Given the description of an element on the screen output the (x, y) to click on. 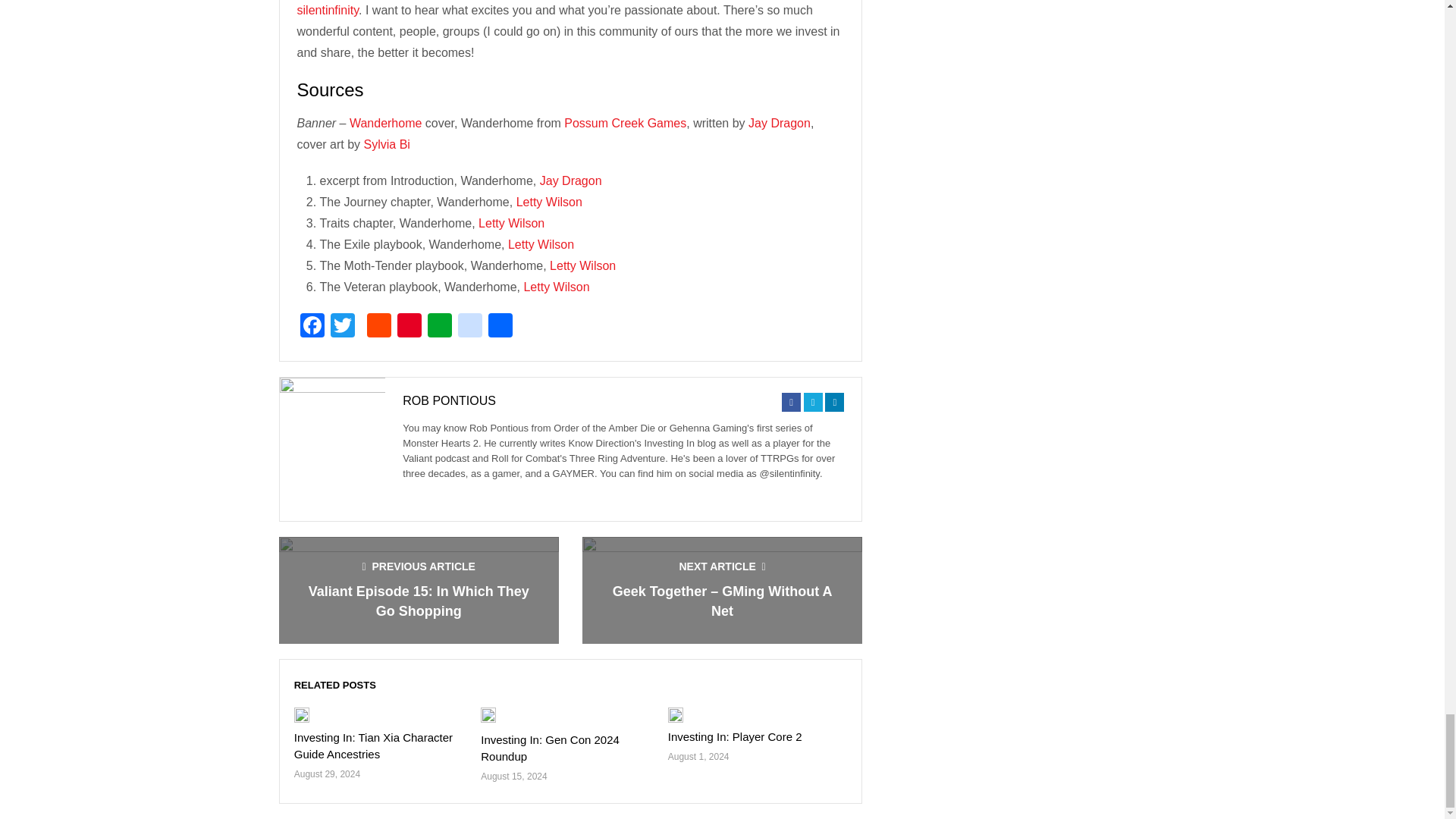
Pinterest (409, 326)
Twitter (342, 326)
Facebook (312, 326)
Evernote (439, 326)
Investing In: Tian Xia Character Guide Ancestries (373, 745)
Reddit (379, 326)
Delicious (469, 326)
